Given the description of an element on the screen output the (x, y) to click on. 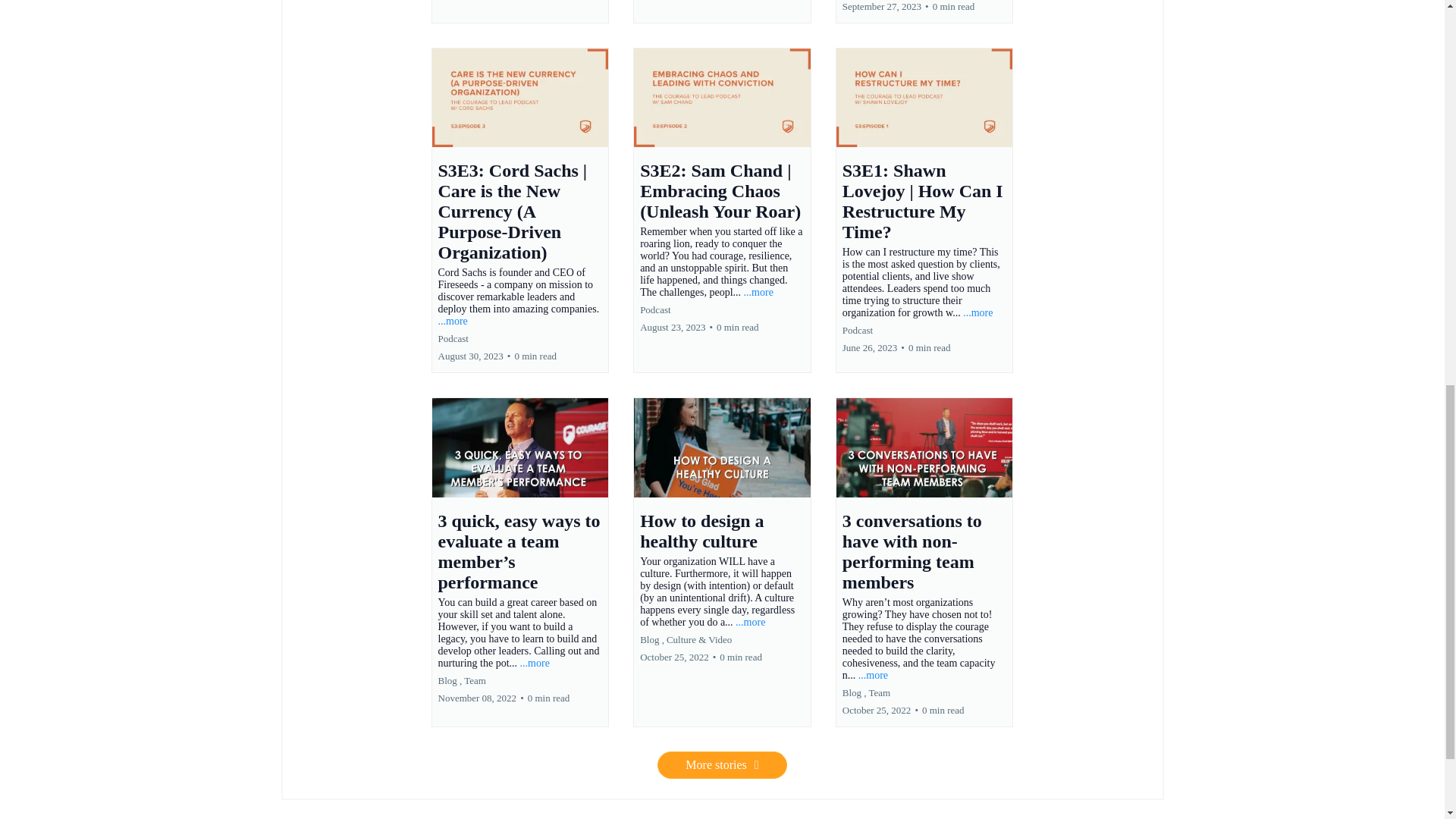
...more (534, 663)
...more (758, 292)
...more (452, 320)
...more (873, 674)
3 conversations to have with non-performing team members (912, 551)
...more (977, 312)
...more (750, 622)
How to design a healthy culture (701, 531)
More stories (722, 764)
